Given the description of an element on the screen output the (x, y) to click on. 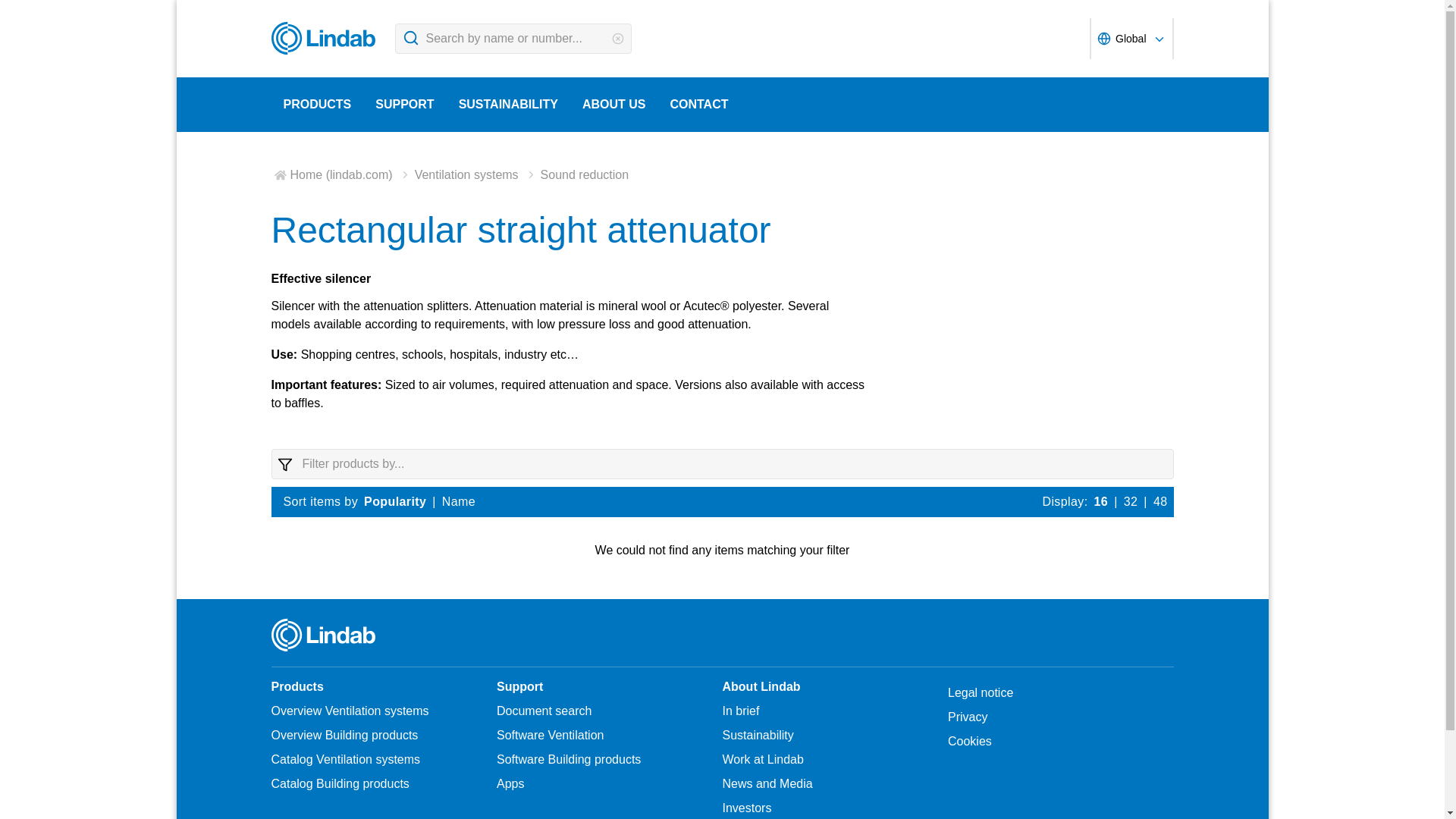
Search (410, 37)
Clear search phrase (617, 38)
Global (1130, 38)
Go to home page (326, 38)
